Given the description of an element on the screen output the (x, y) to click on. 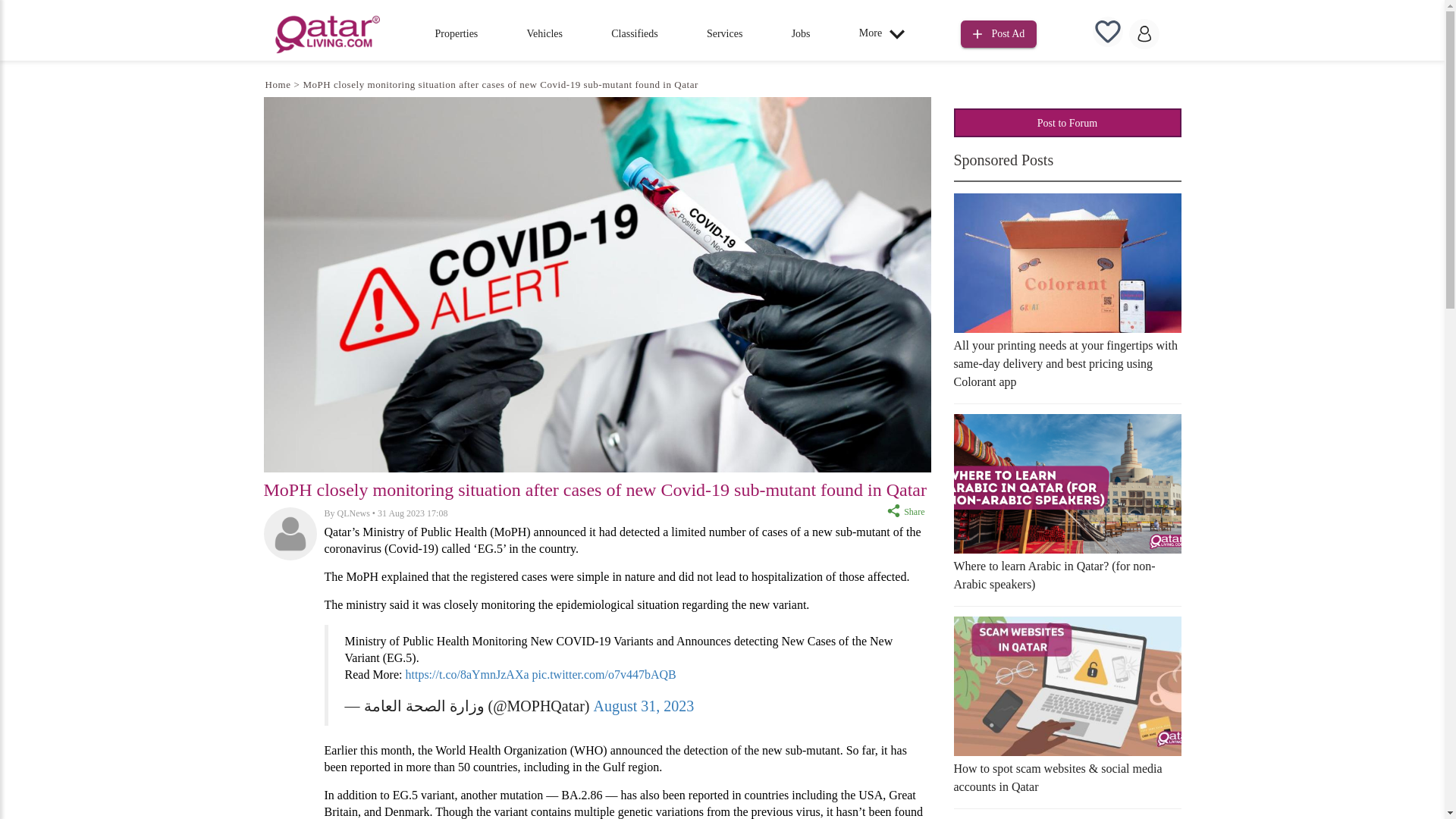
Classifieds (634, 33)
View user profile. (353, 512)
More (885, 33)
Post Ad (998, 34)
Post Ad (998, 32)
